Given the description of an element on the screen output the (x, y) to click on. 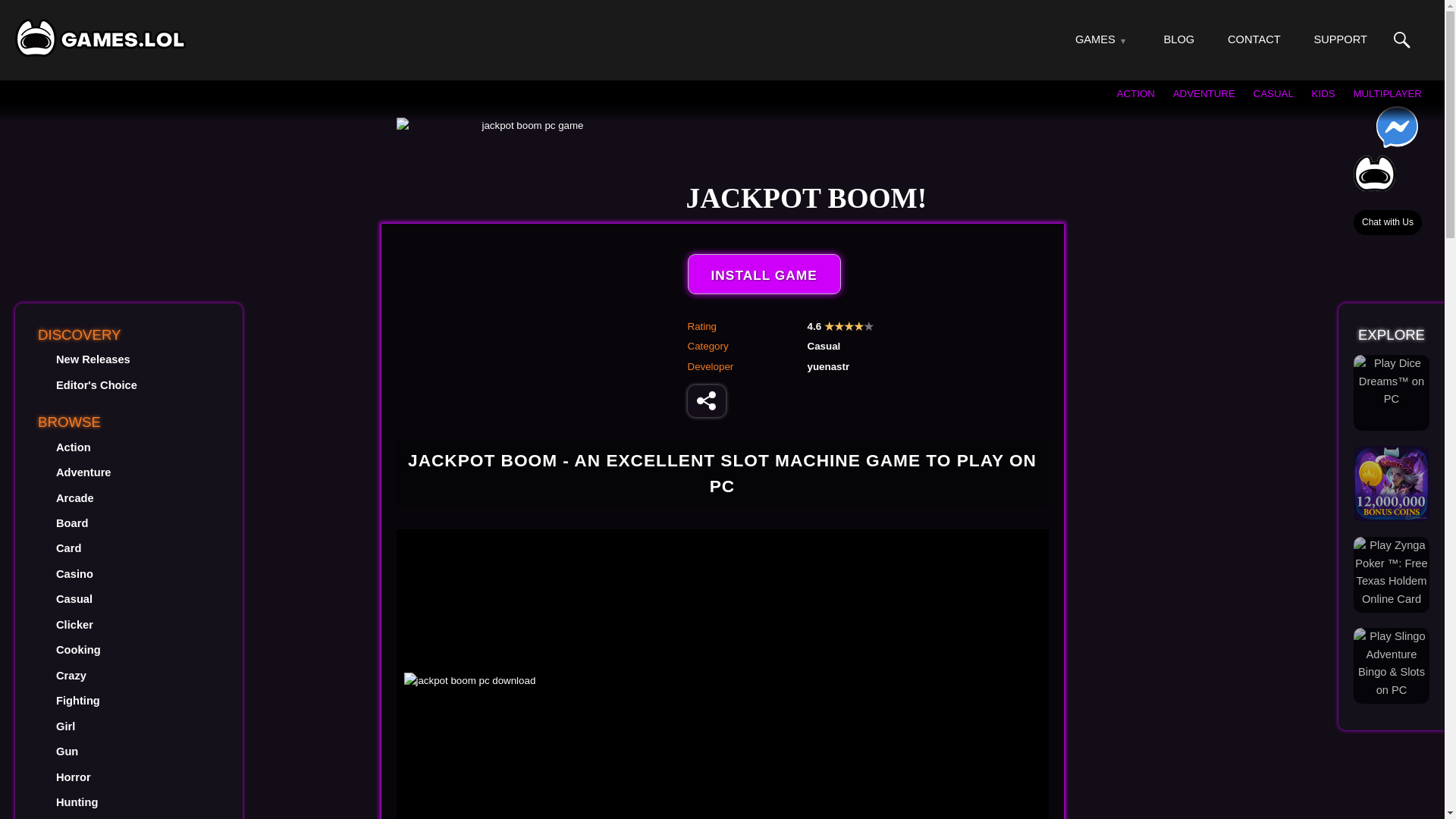
GAMES (1095, 39)
ACTION (1135, 93)
KIDS (1323, 93)
CASUAL (1273, 93)
Action (73, 447)
New Releases (93, 358)
ADVENTURE (1203, 93)
Editor's Choice (96, 385)
CONTACT (1254, 39)
MULTIPLAYER (1387, 93)
Games.lol free game download website logo (100, 37)
SUPPORT (1340, 39)
BLOG (1179, 39)
Adventure (83, 472)
